Given the description of an element on the screen output the (x, y) to click on. 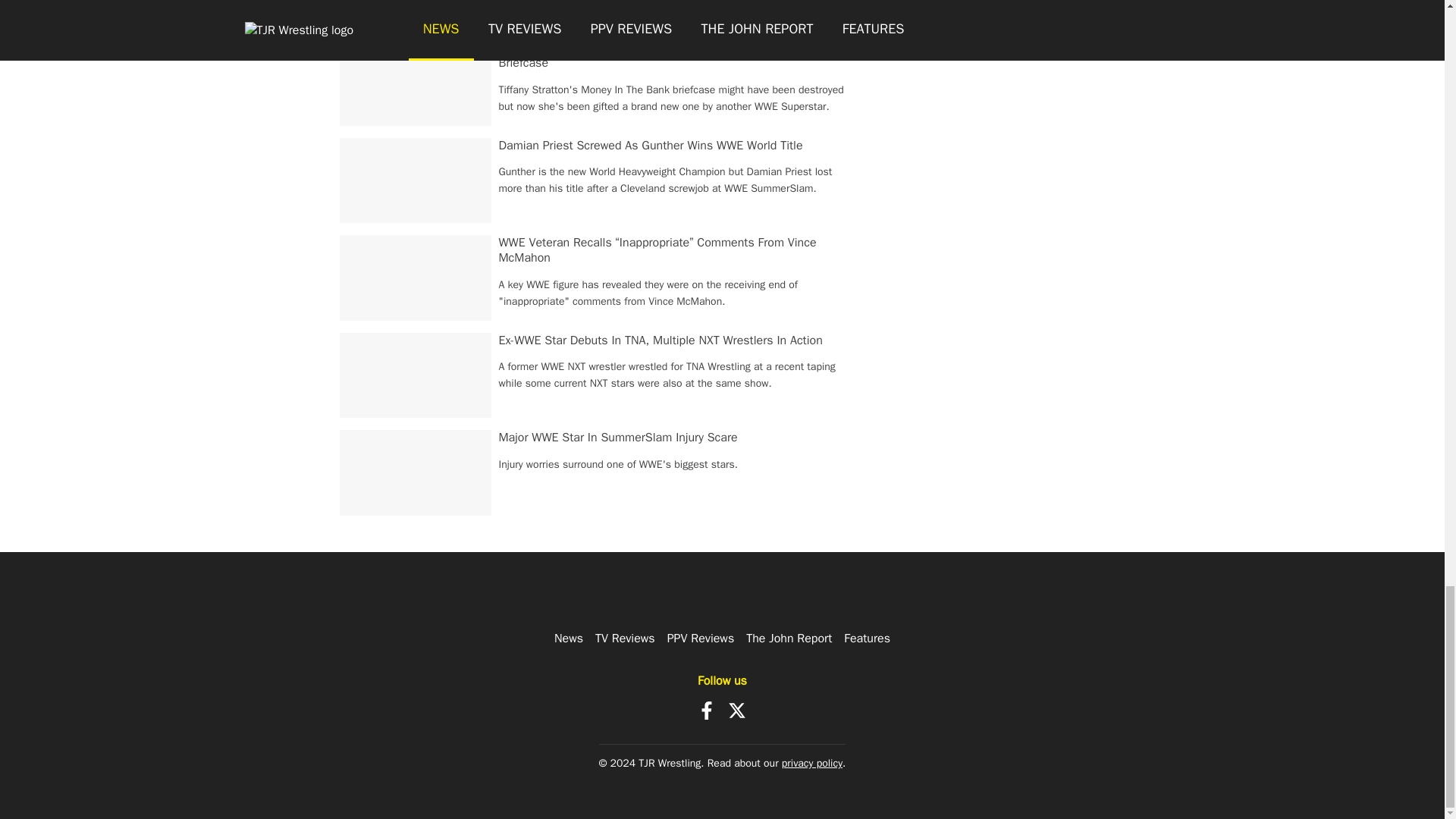
Facebook (706, 710)
Major WWE Star In SummerSlam Injury Scare (618, 437)
Damian Priest Screwed As Gunther Wins WWE World Title (651, 145)
Ex-WWE Star Debuts In TNA, Multiple NXT Wrestlers In Action (660, 340)
X (736, 710)
